Given the description of an element on the screen output the (x, y) to click on. 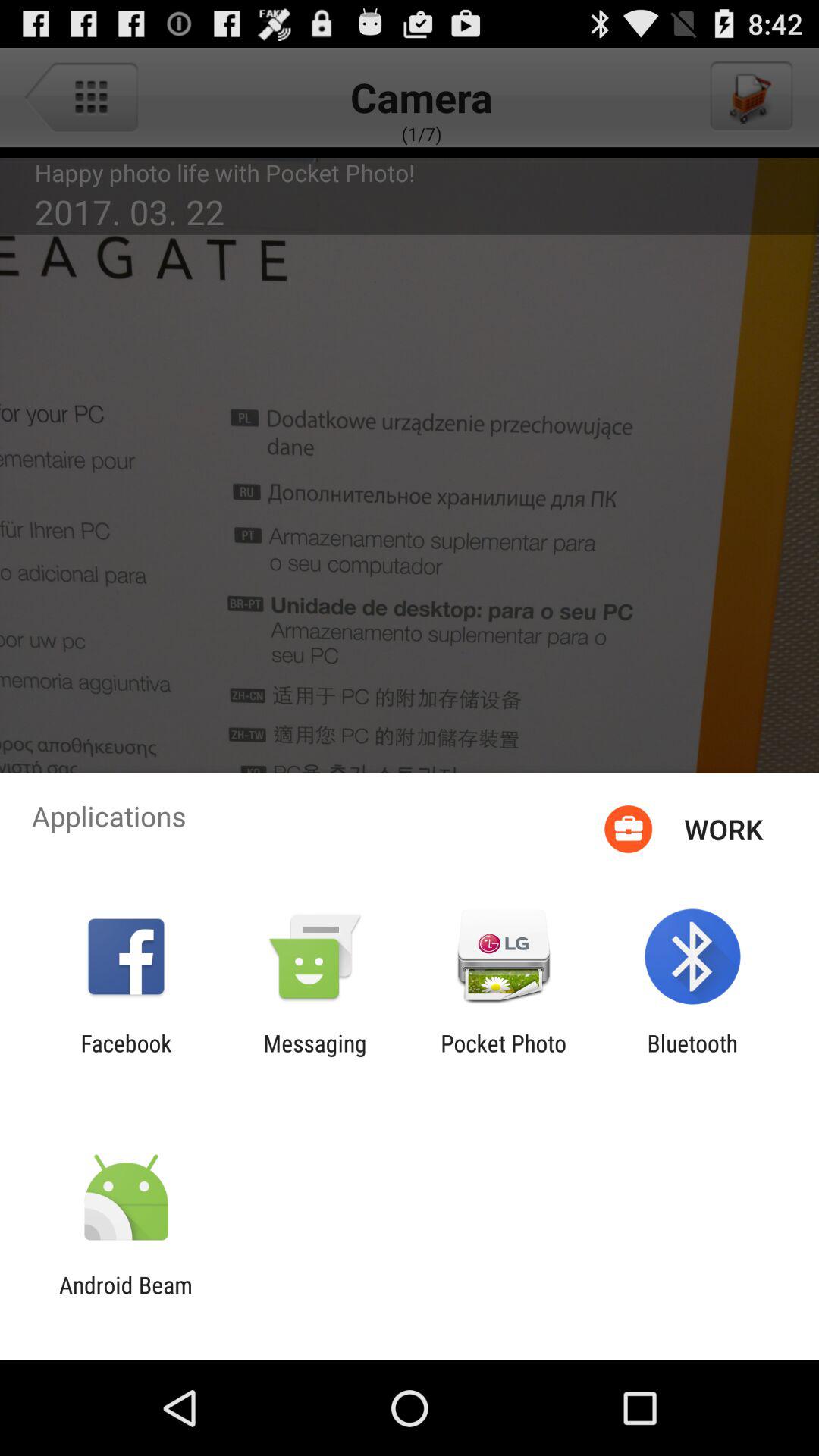
launch the app to the left of the pocket photo icon (314, 1056)
